Given the description of an element on the screen output the (x, y) to click on. 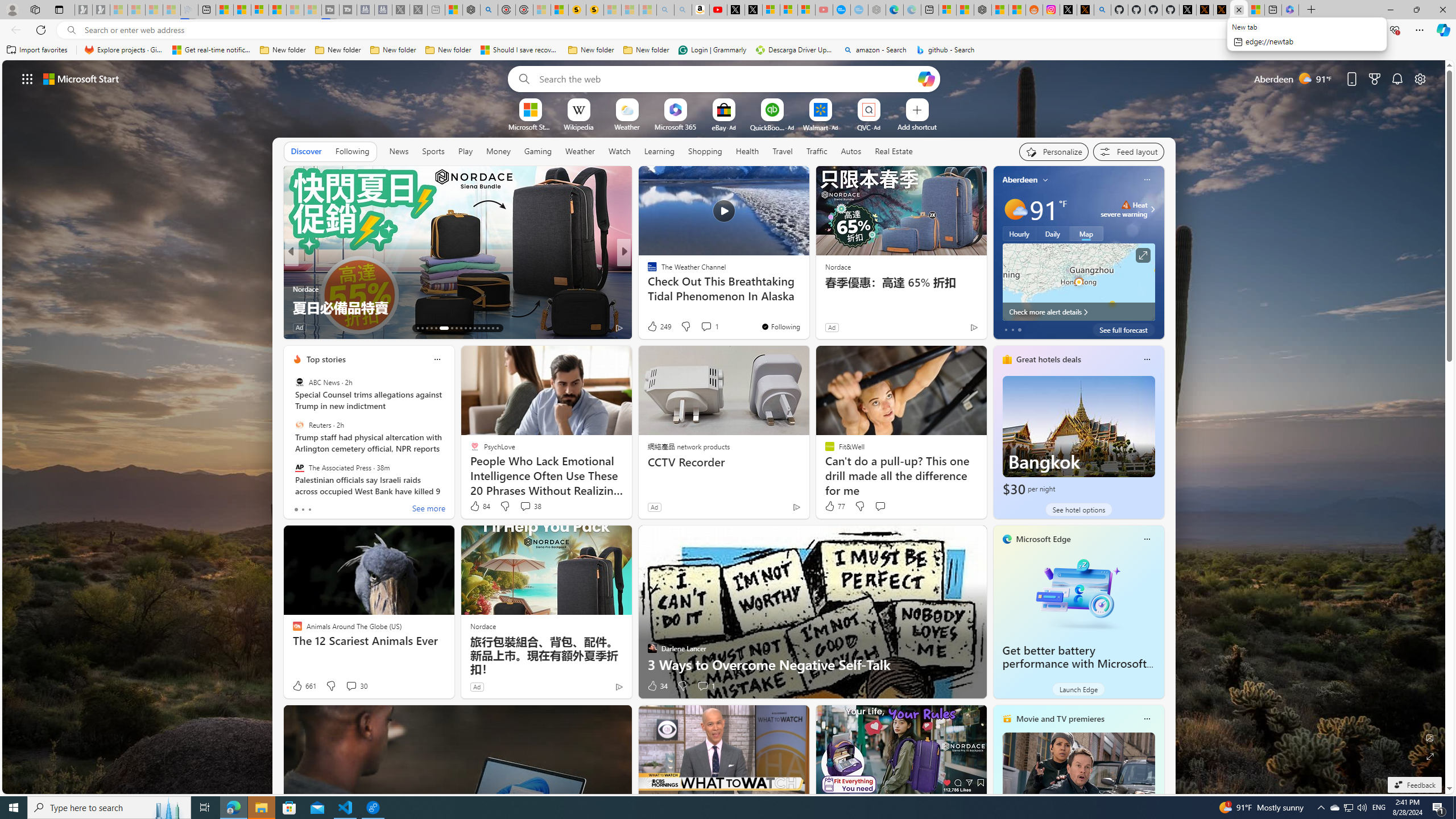
Health (746, 151)
117 Like (654, 327)
206 Like (654, 327)
Get better battery performance with Microsoft Edge (1077, 592)
Real Estate (893, 151)
Mostly sunny (1014, 208)
View comments 8 Comment (349, 327)
Login | Microsoft 365 (1289, 9)
New tab (1273, 9)
AutomationID: tab-29 (497, 328)
View comments 366 Comment (709, 327)
Following (352, 151)
Feedback (1414, 784)
